Given the description of an element on the screen output the (x, y) to click on. 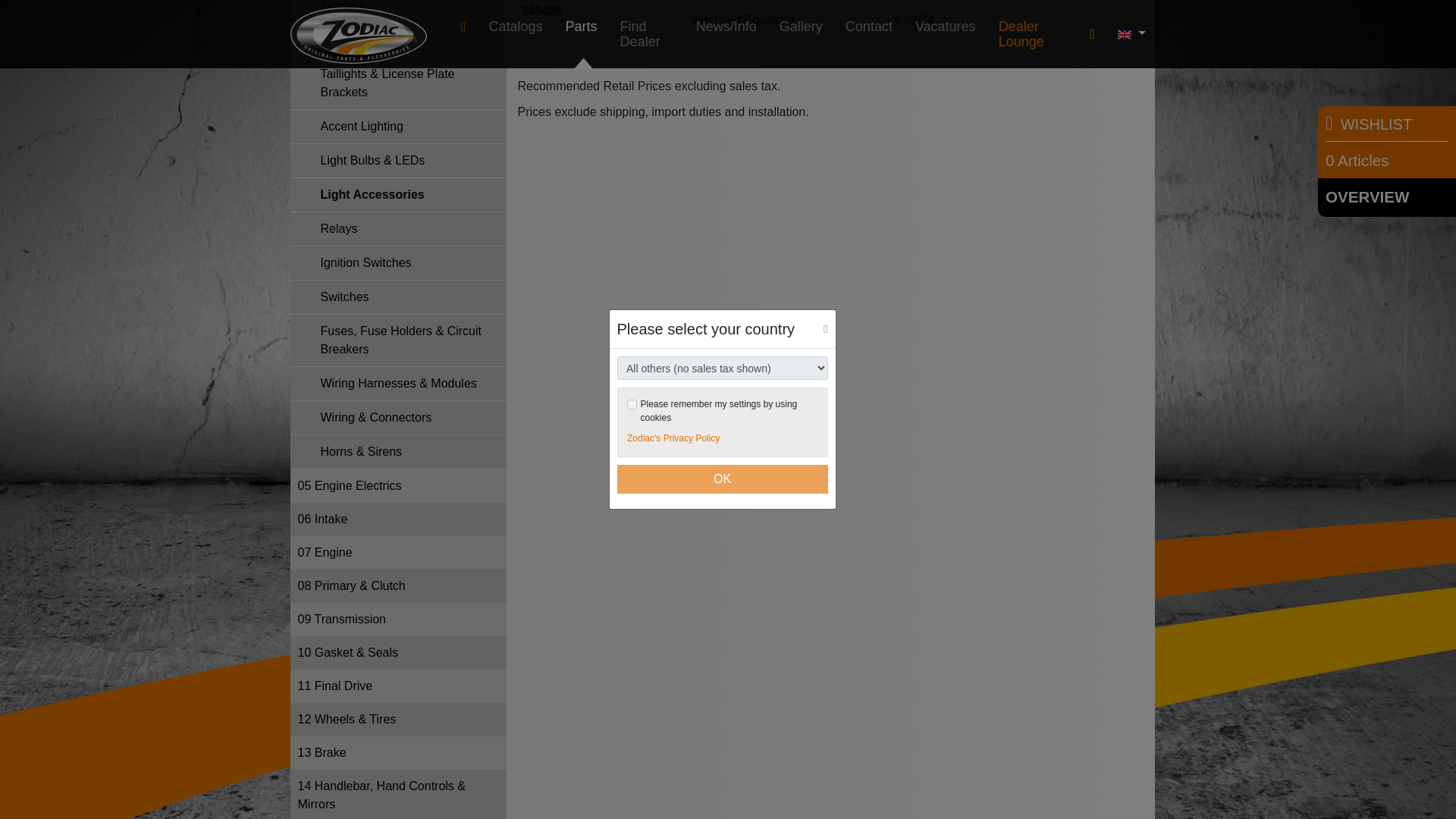
Taillights for Fatbob Style Fenders (397, 11)
